Given the description of an element on the screen output the (x, y) to click on. 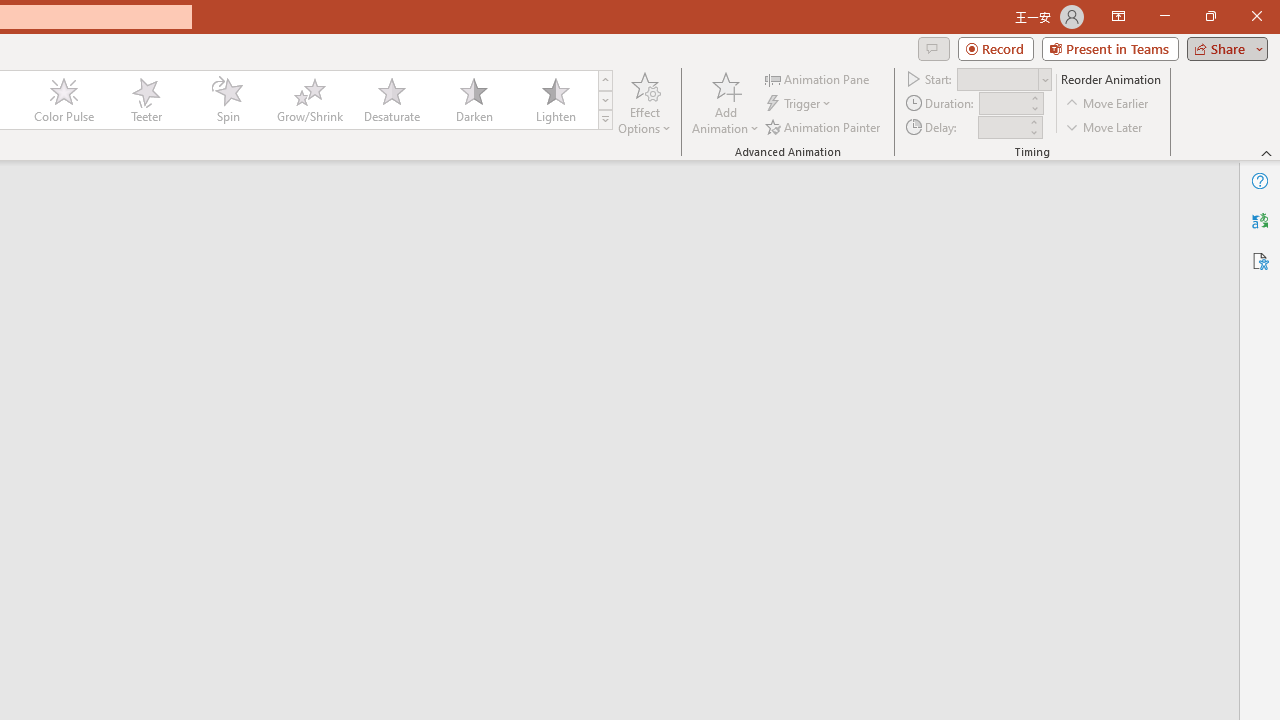
Move Earlier (1107, 103)
Effect Options (644, 102)
Spin (227, 100)
Animation Styles (605, 120)
Grow/Shrink (309, 100)
Animation Delay (1002, 127)
Desaturate (391, 100)
Teeter (145, 100)
Animation Duration (1003, 103)
